Given the description of an element on the screen output the (x, y) to click on. 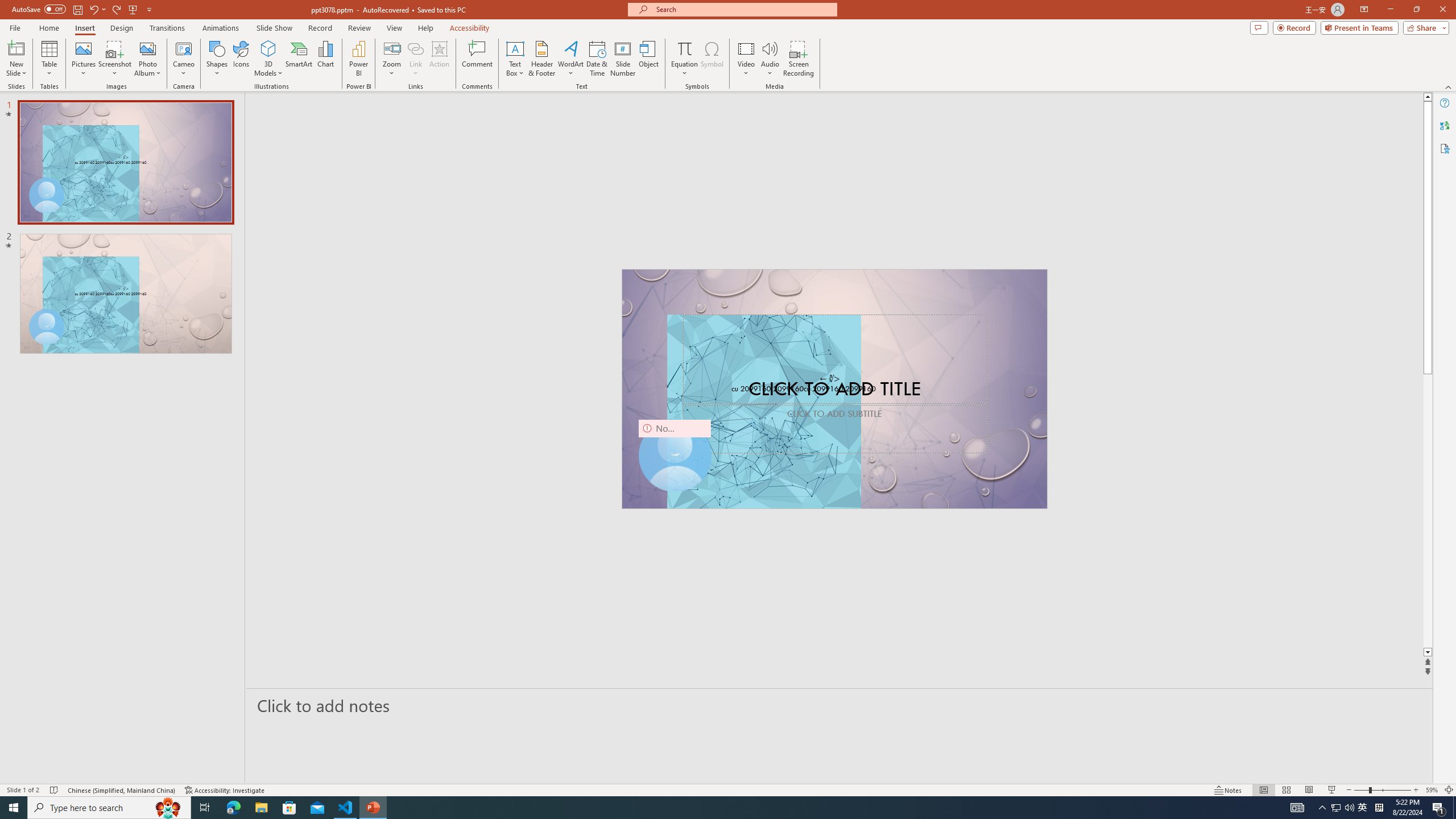
An abstract genetic concept (833, 388)
3D Models (268, 58)
Action (439, 58)
Camera 9, No camera detected. (674, 455)
Photo Album... (147, 58)
Subtitle TextBox (834, 428)
